Given the description of an element on the screen output the (x, y) to click on. 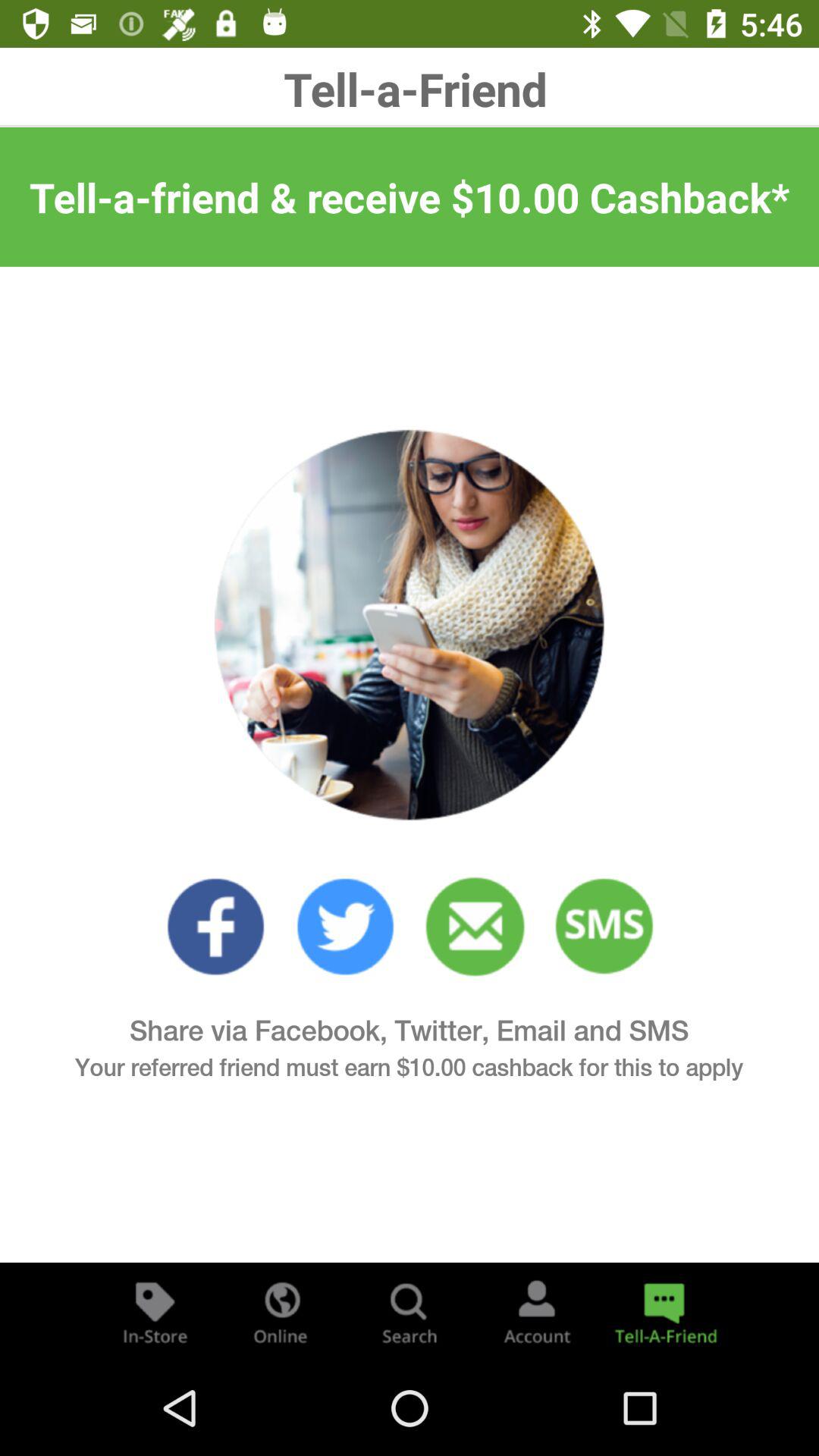
go to chat window (664, 1311)
